Given the description of an element on the screen output the (x, y) to click on. 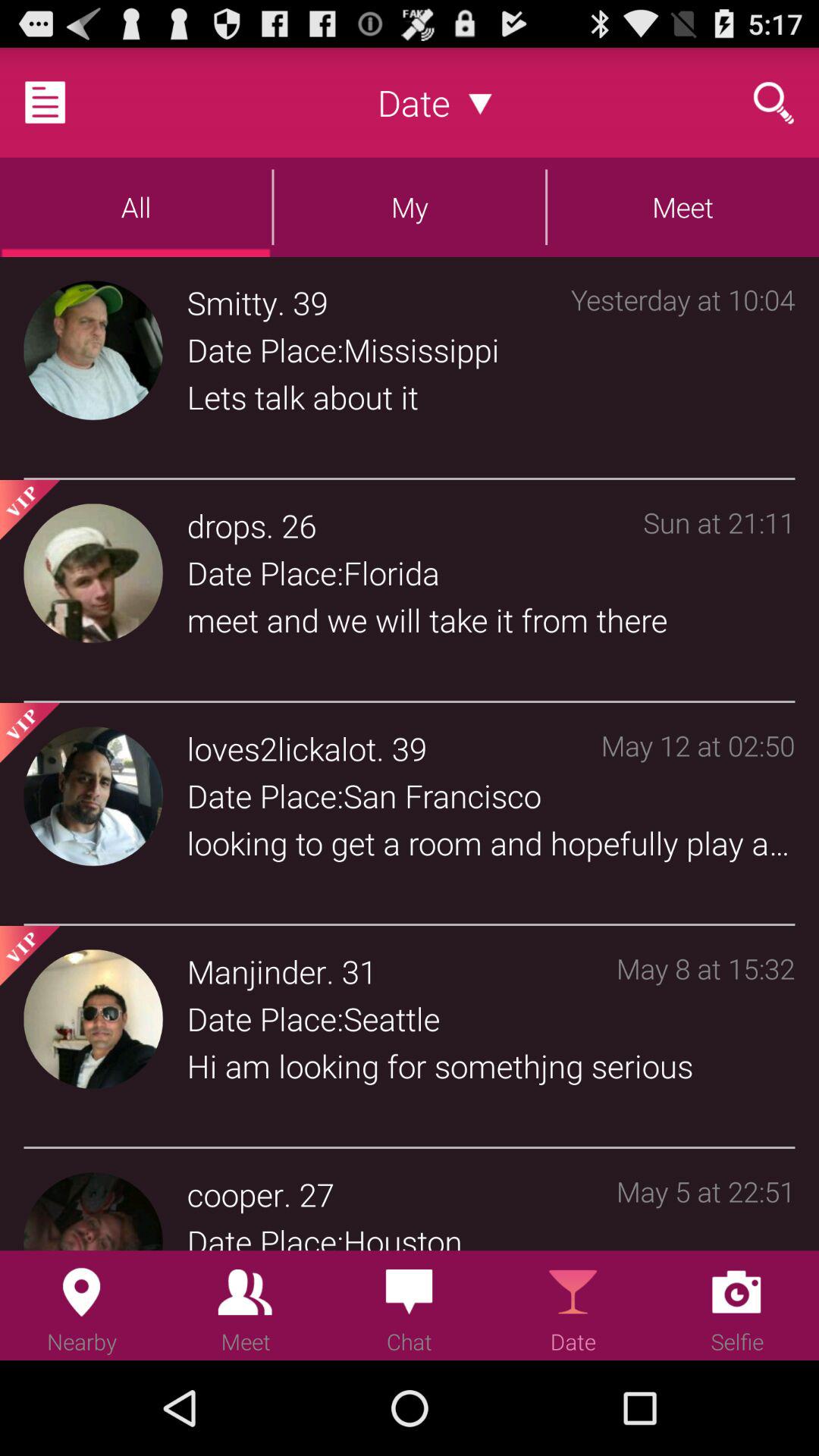
open the item to the right of .  icon (359, 971)
